Given the description of an element on the screen output the (x, y) to click on. 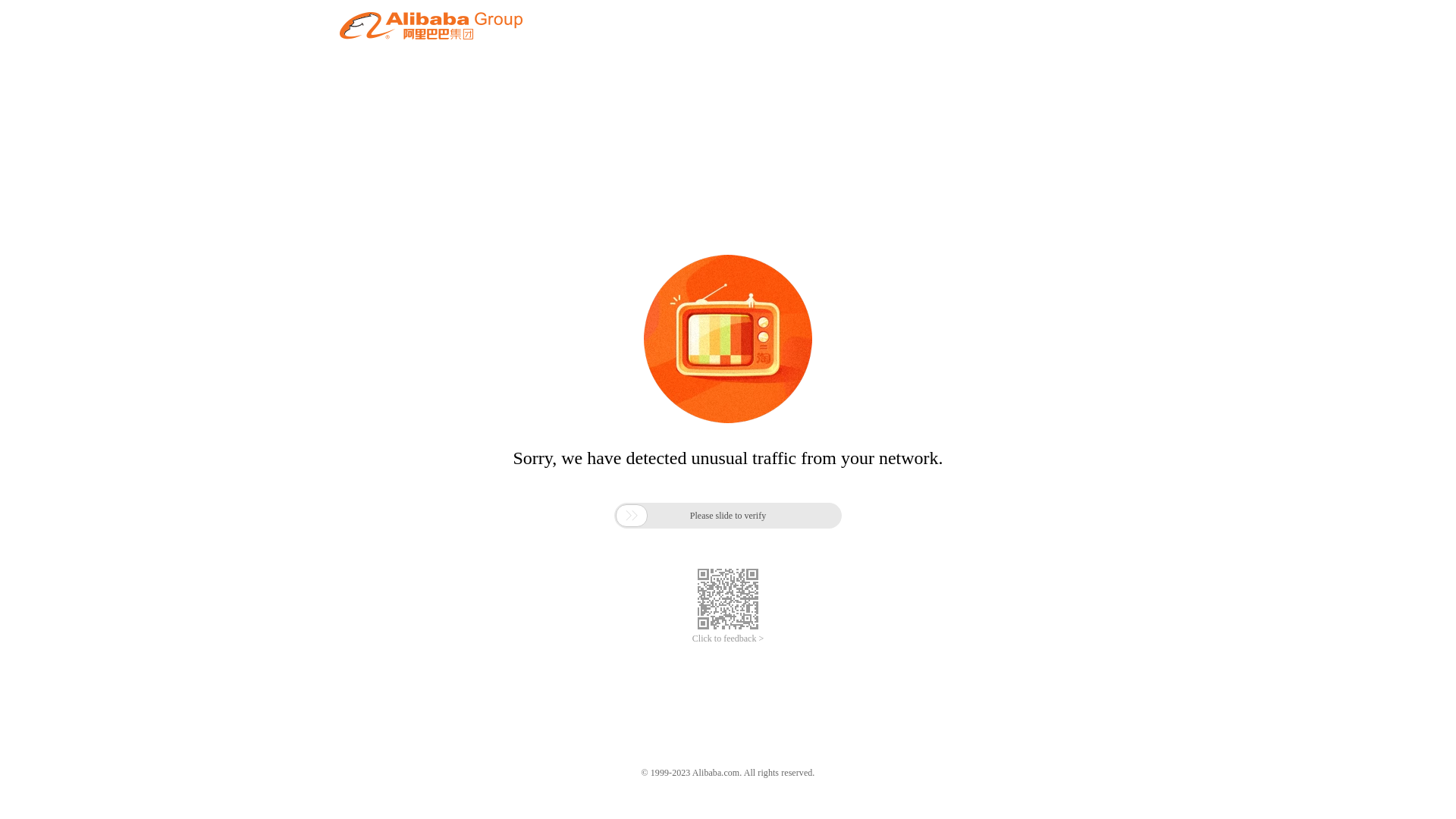
Click to feedback > Element type: text (727, 638)
